Given the description of an element on the screen output the (x, y) to click on. 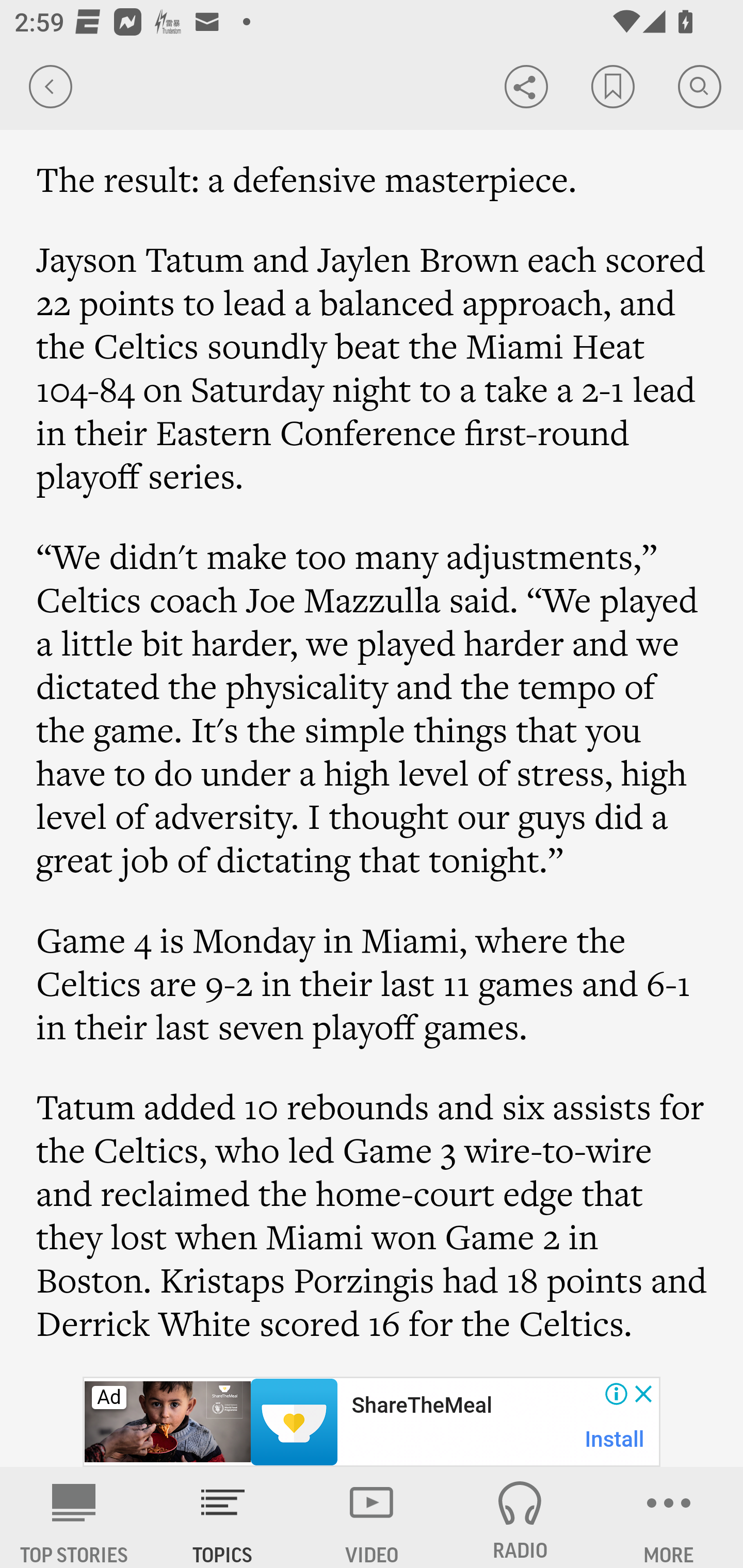
ShareTheMeal (420, 1405)
Install (614, 1438)
AP News TOP STORIES (74, 1517)
TOPICS (222, 1517)
VIDEO (371, 1517)
RADIO (519, 1517)
MORE (668, 1517)
